Given the description of an element on the screen output the (x, y) to click on. 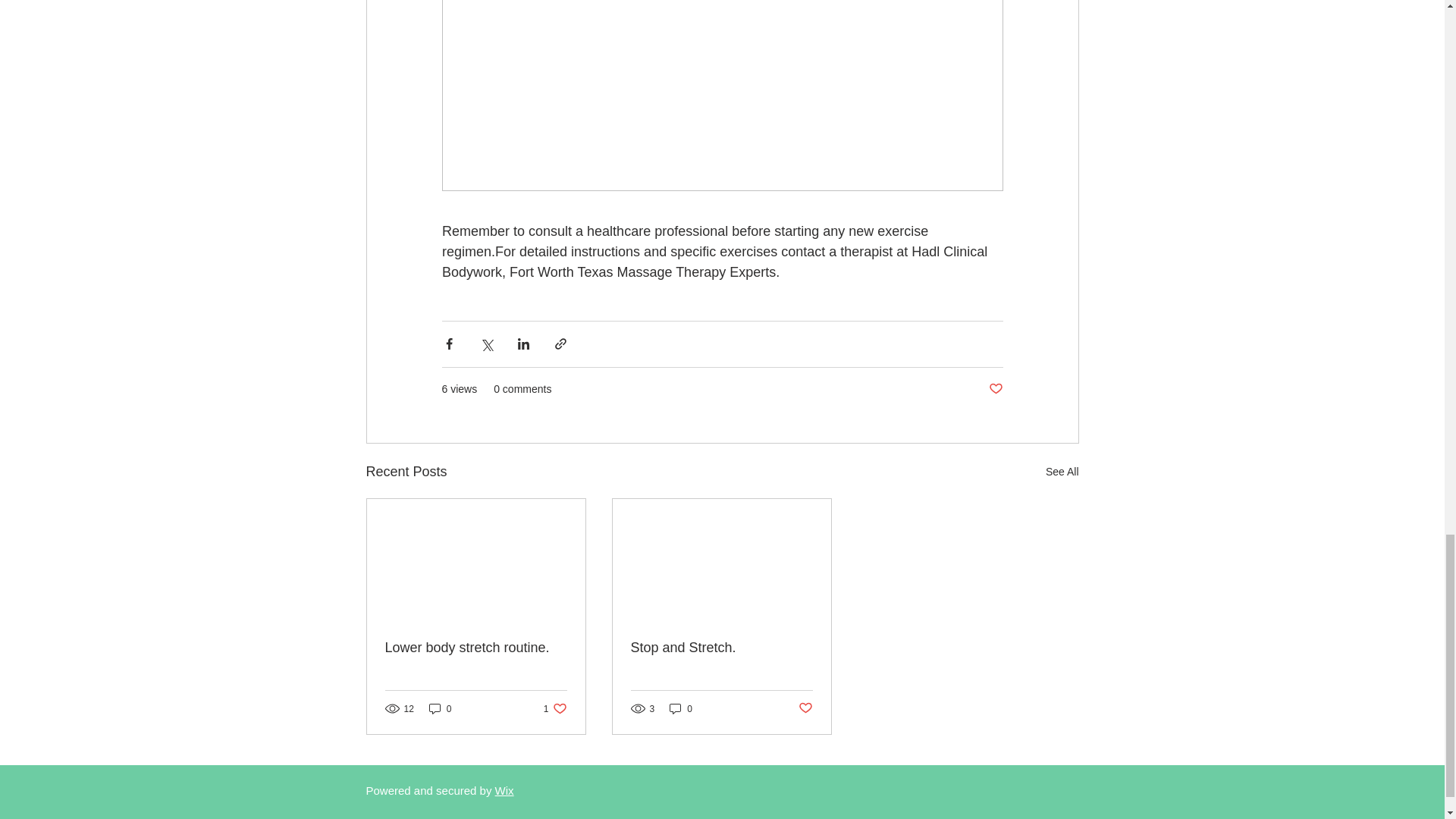
0 (681, 708)
0 (555, 708)
Lower body stretch routine. (440, 708)
Wix (476, 647)
Stop and Stretch. (504, 789)
Post not marked as liked (721, 647)
See All (804, 708)
Post not marked as liked (1061, 472)
